Given the description of an element on the screen output the (x, y) to click on. 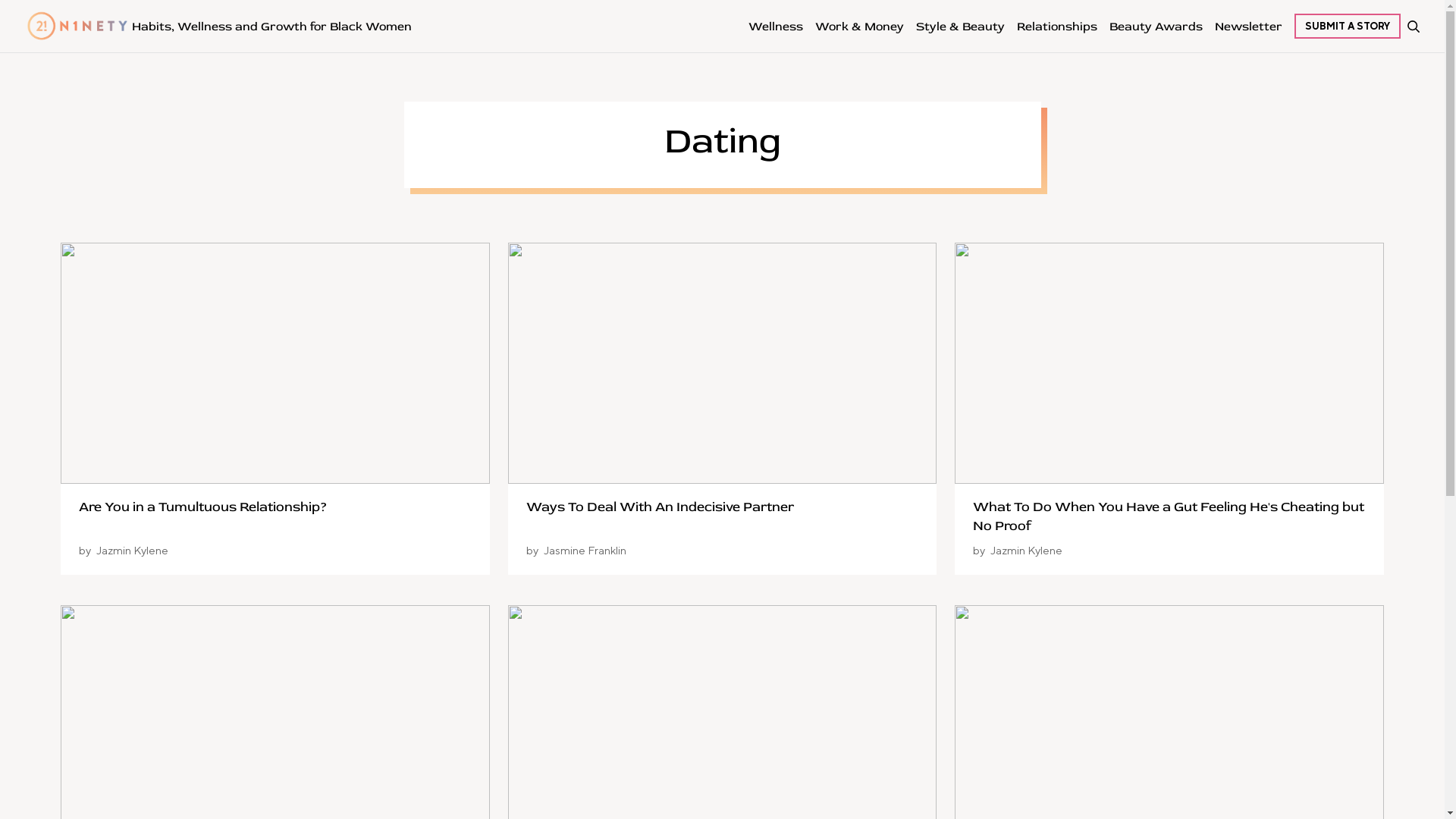
Beauty Awards Element type: text (1155, 25)
Jazmin Kylene Element type: text (132, 549)
Jazmin Kylene Element type: text (1026, 549)
Newsletter Element type: text (1248, 25)
Style & Beauty Element type: text (960, 25)
Wellness Element type: text (775, 25)
Work & Money Element type: text (859, 25)
Relationships Element type: text (1056, 25)
SUBMIT A STORY Element type: text (1347, 25)
Jasmine Franklin Element type: text (584, 549)
